Given the description of an element on the screen output the (x, y) to click on. 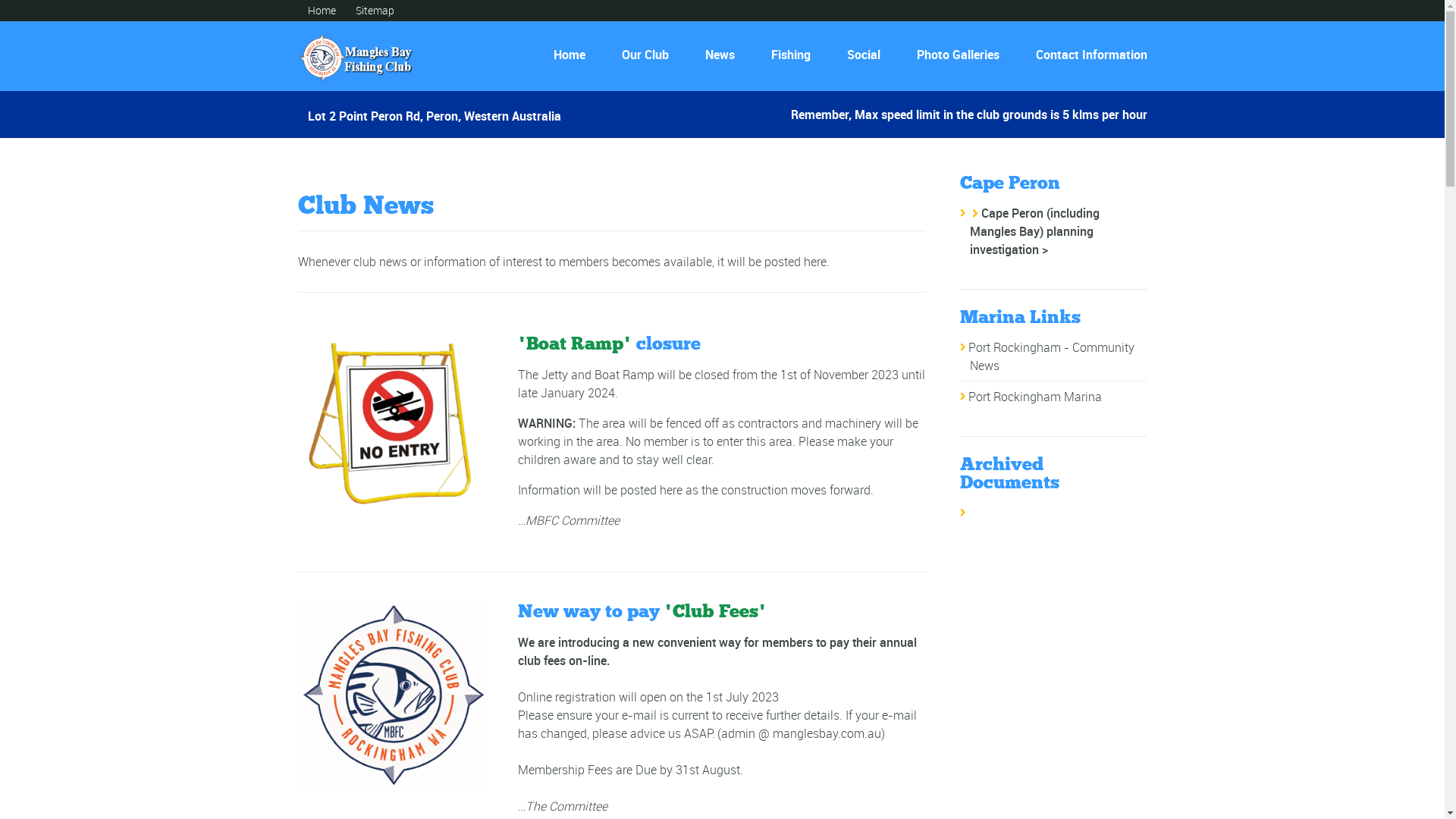
Our Club Element type: text (644, 54)
Social Element type: text (862, 54)
Port Rockingham Marina Element type: text (1034, 396)
Fishing Element type: text (790, 54)
Lot 2 Point Peron Rd, Peron, Western Australia Element type: text (434, 110)
Cape Peron (including Mangles Bay) planning investigation > Element type: text (1033, 230)
Contact Information Element type: text (1085, 54)
Sitemap Element type: text (374, 10)
Home Element type: text (569, 54)
Port Rockingham - Community News Element type: text (1051, 355)
Photo Galleries Element type: text (956, 54)
Home Element type: text (321, 10)
News Element type: text (719, 54)
